Given the description of an element on the screen output the (x, y) to click on. 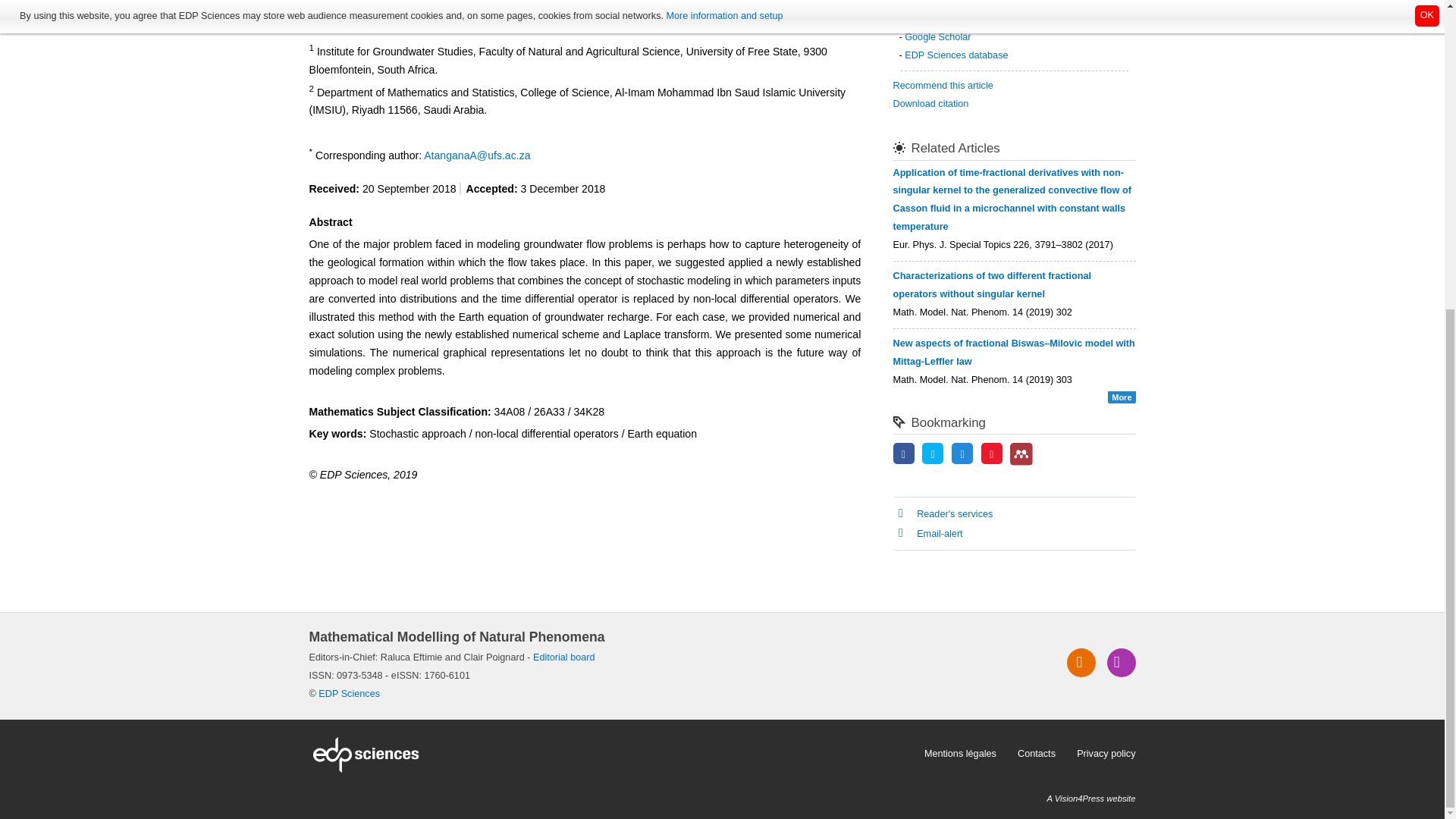
Add this article to your Mendeley library (1021, 462)
Access our RSS feeds (1081, 662)
Share on Sina Weibo (992, 454)
Mendeley (1021, 454)
Share on LinkedIn (962, 454)
EDP Sciences website (611, 754)
Share on Facebook (903, 454)
Register to the journal email alert (1120, 662)
Share on Twitter (932, 454)
